Given the description of an element on the screen output the (x, y) to click on. 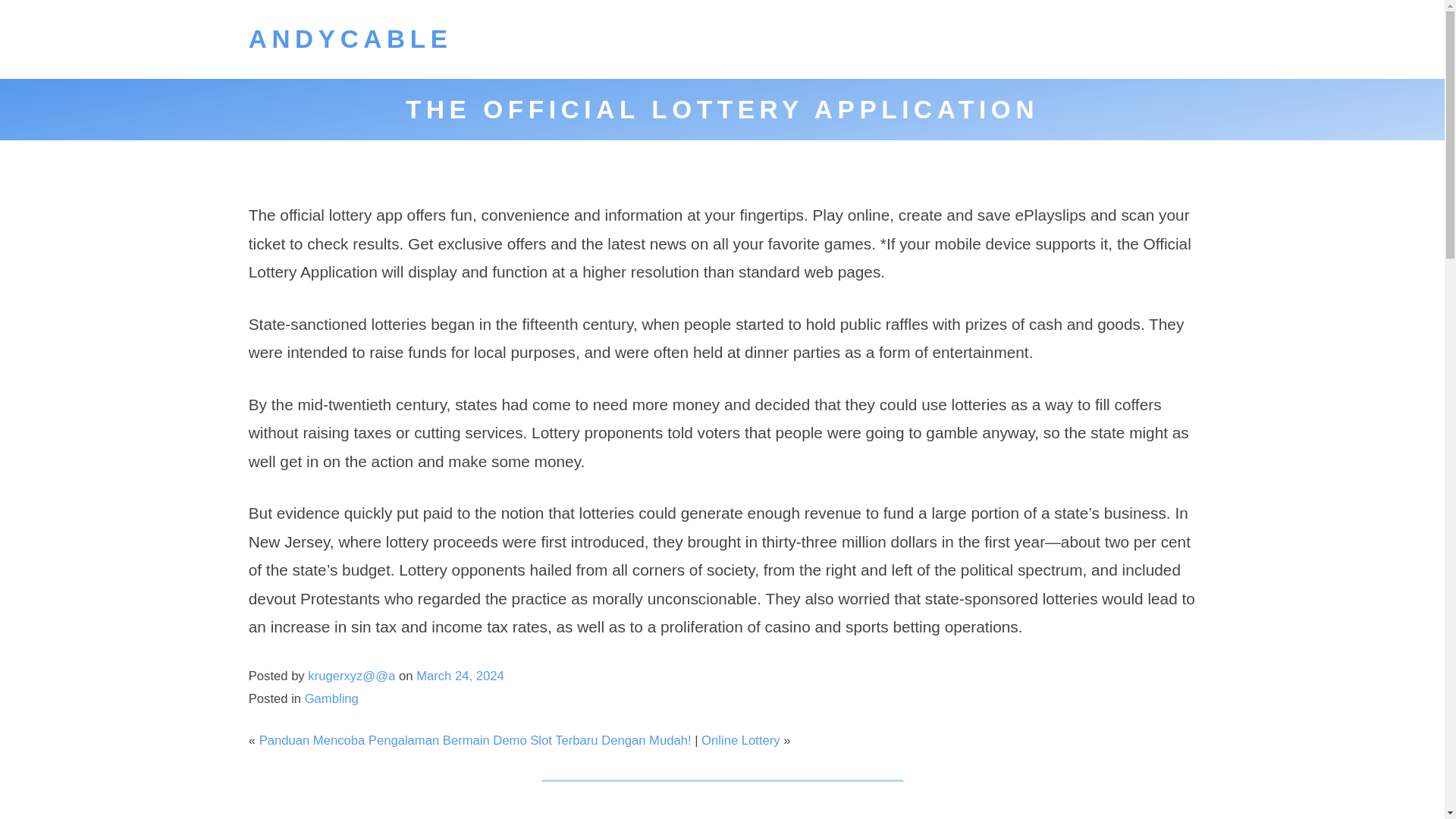
ANDYCABLE (350, 39)
Gambling (331, 698)
March 24, 2024 (459, 676)
Online Lottery (740, 740)
